Given the description of an element on the screen output the (x, y) to click on. 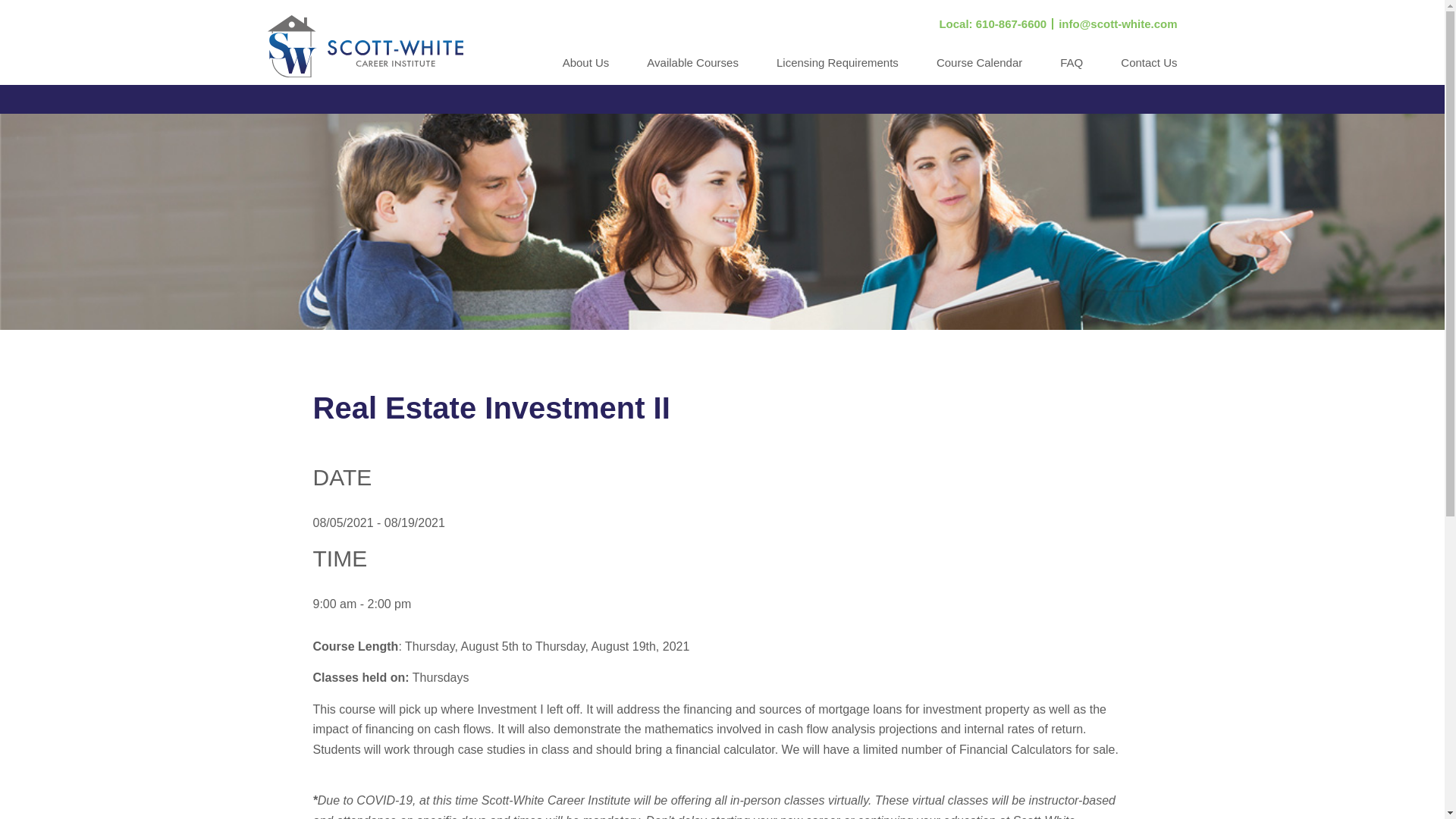
Local: 610-867-6600 (992, 23)
Course Calendar (979, 69)
Contact Us (1148, 69)
About Us (586, 69)
Available Courses (692, 69)
Scott-White Career Institute (364, 45)
Licensing Requirements (837, 69)
